Given the description of an element on the screen output the (x, y) to click on. 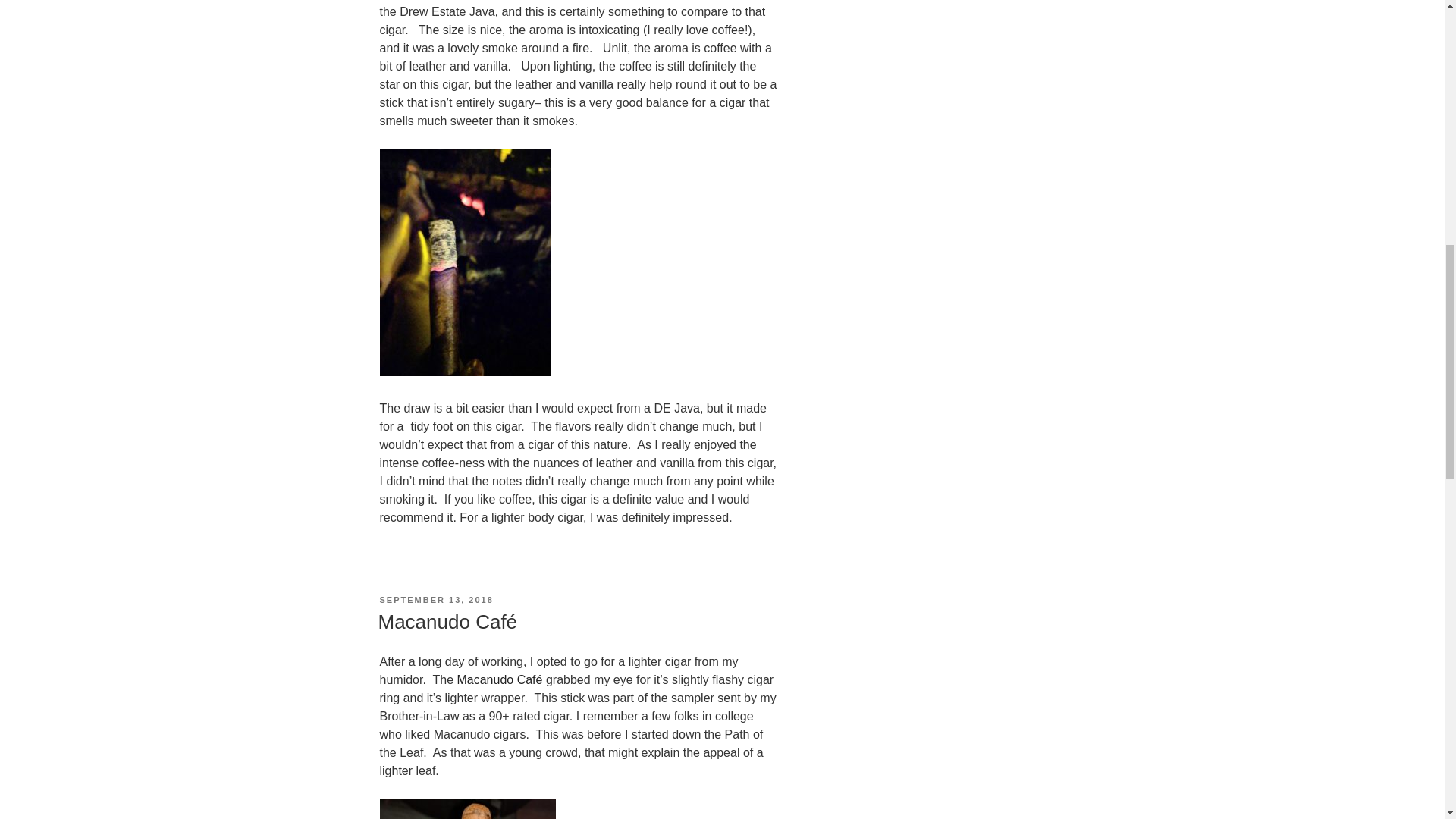
SEPTEMBER 13, 2018 (435, 599)
